Given the description of an element on the screen output the (x, y) to click on. 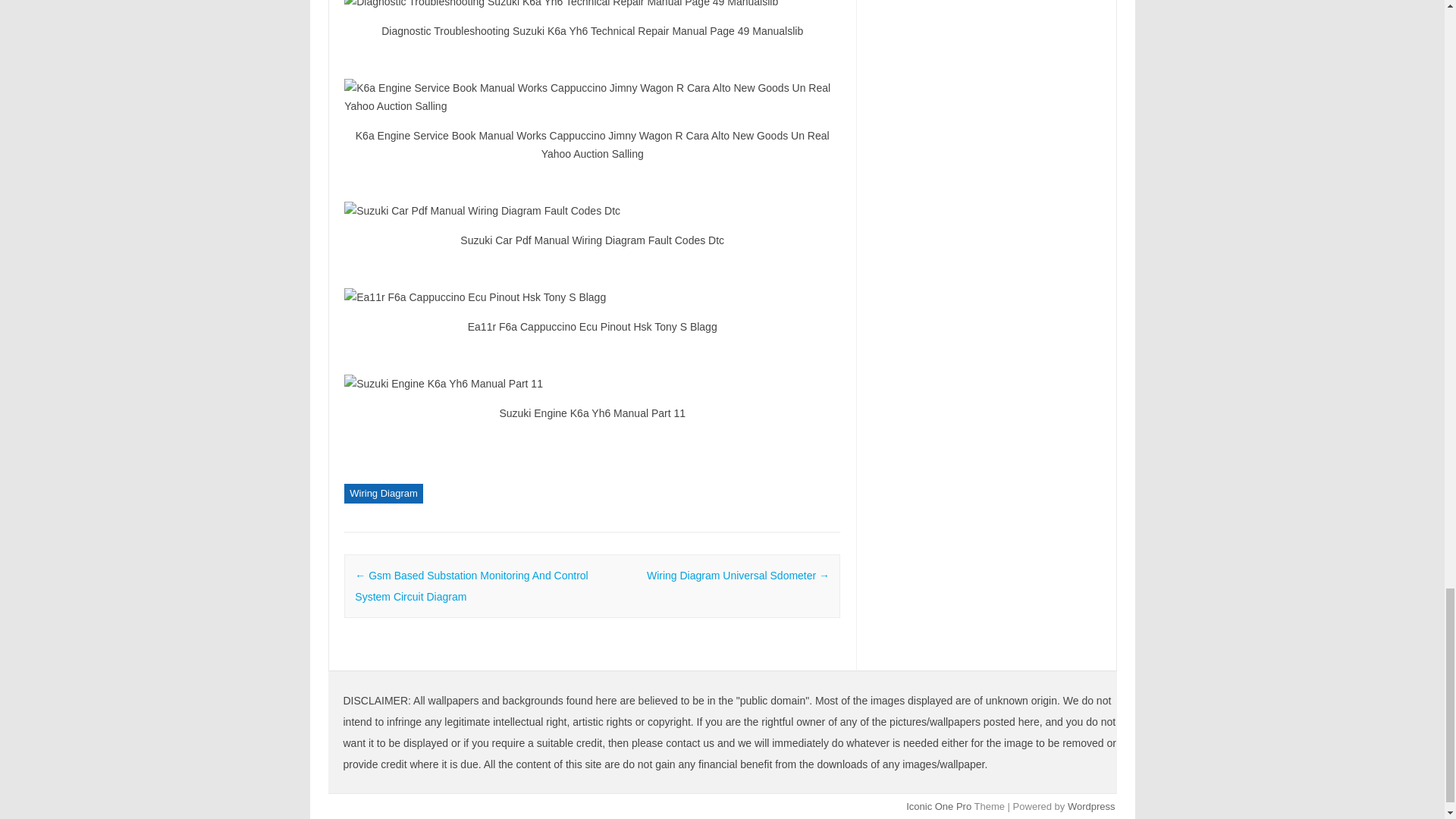
Wiring Diagram (383, 493)
